Given the description of an element on the screen output the (x, y) to click on. 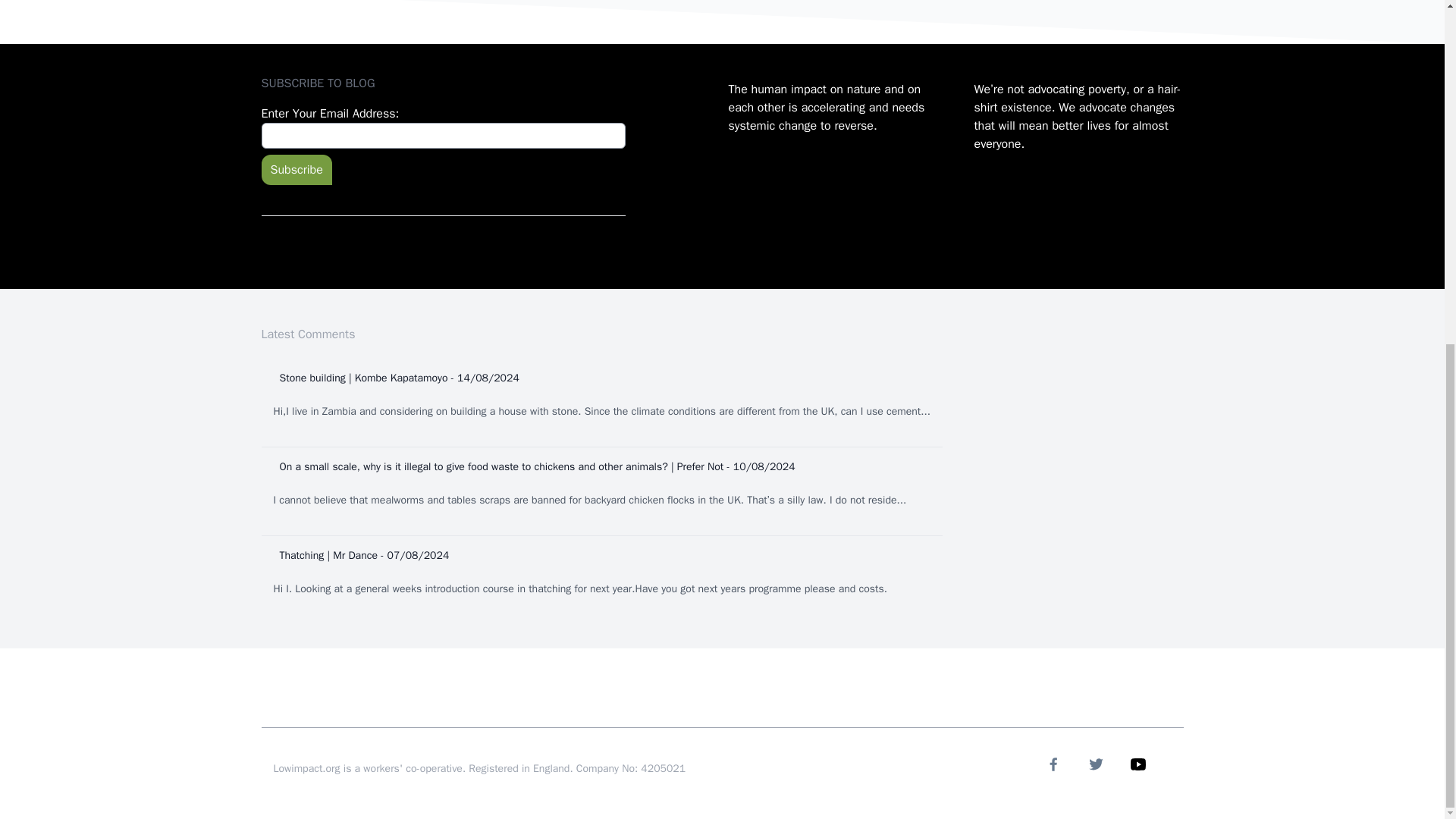
follow us on Youtube (1137, 764)
follow us on Facebook (1052, 764)
Subscribe (295, 169)
Subscribe (295, 169)
follow us on Twitter (1094, 764)
